Given the description of an element on the screen output the (x, y) to click on. 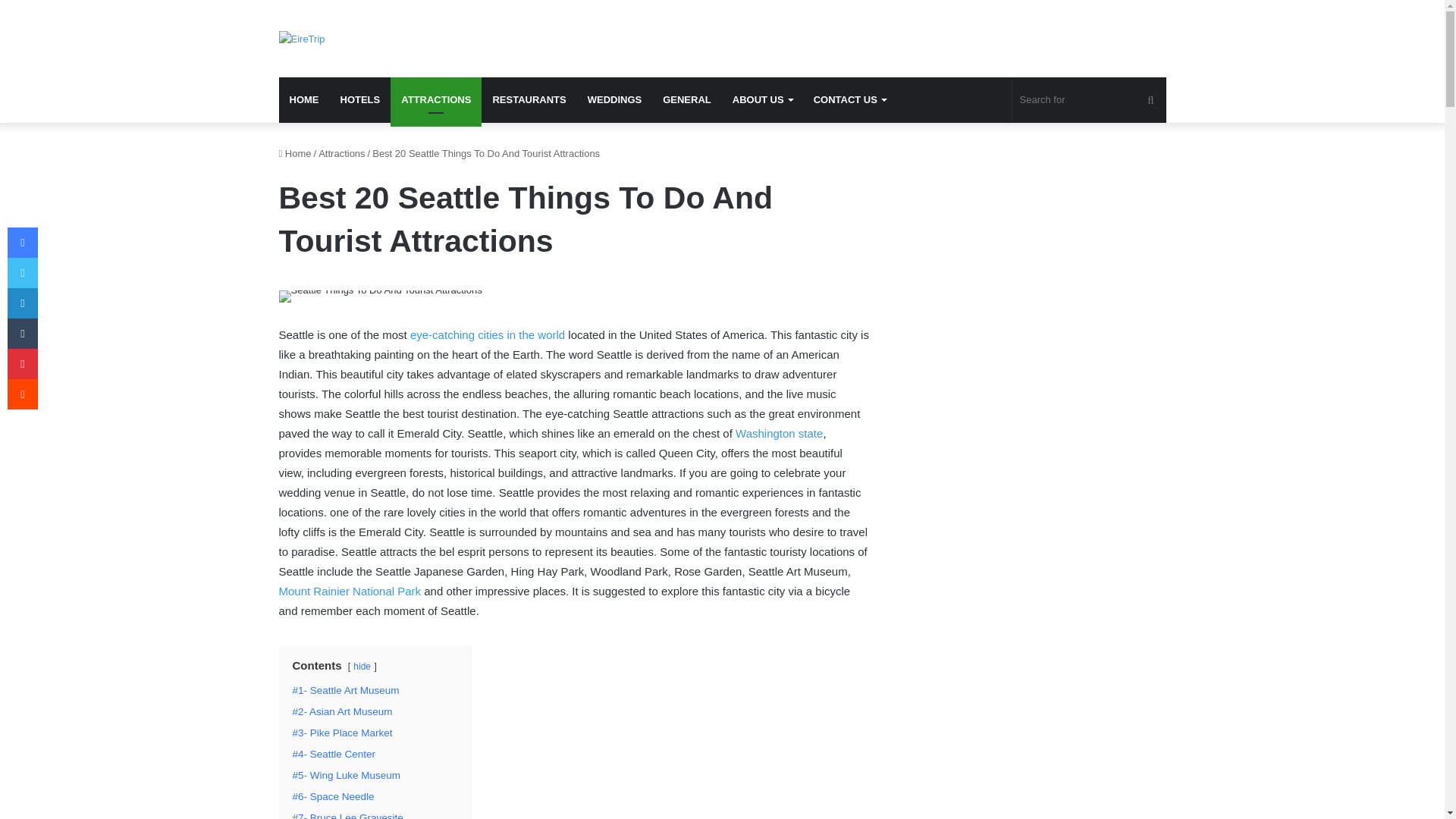
Tumblr (22, 333)
Home (295, 153)
GENERAL (687, 99)
Search for (1088, 99)
Mount Rainier National Park (350, 590)
eye-catching cities in the world (487, 334)
CONTACT US (849, 99)
Facebook (22, 242)
HOTELS (359, 99)
Attractions (341, 153)
ABOUT US (762, 99)
Pinterest (22, 363)
LinkedIn (22, 303)
Twitter (22, 272)
Reddit (22, 394)
